Given the description of an element on the screen output the (x, y) to click on. 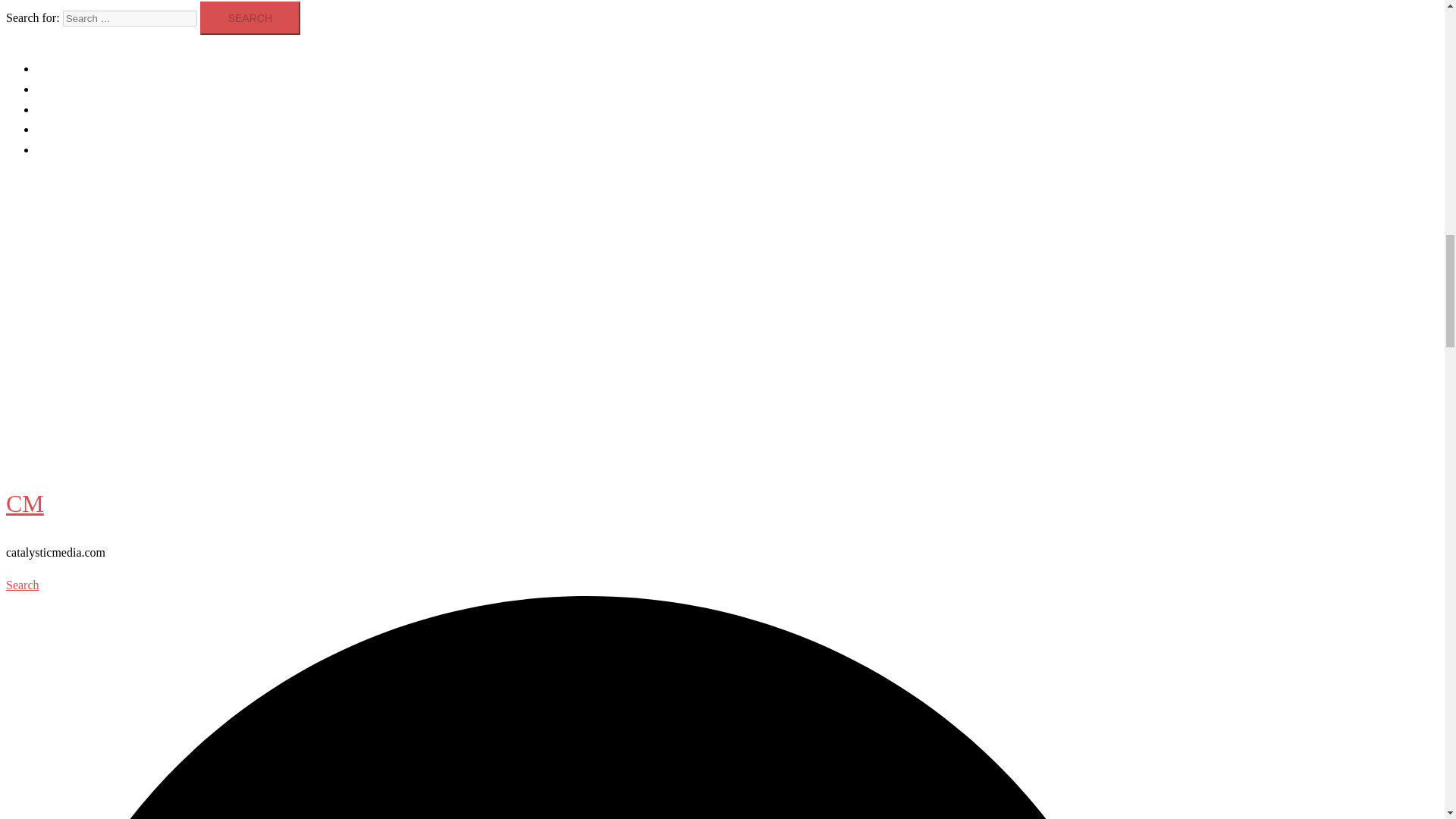
Business Marketing (90, 337)
Search (249, 18)
CM (24, 222)
Business Marketing (84, 68)
CM (24, 502)
Business Plan (74, 429)
Finance (58, 407)
Finance (55, 128)
Business Strategy (84, 384)
Close menu (40, 303)
Business News (73, 88)
Search (249, 18)
Business Plan (69, 149)
Business News (77, 361)
Business Strategy (79, 109)
